Given the description of an element on the screen output the (x, y) to click on. 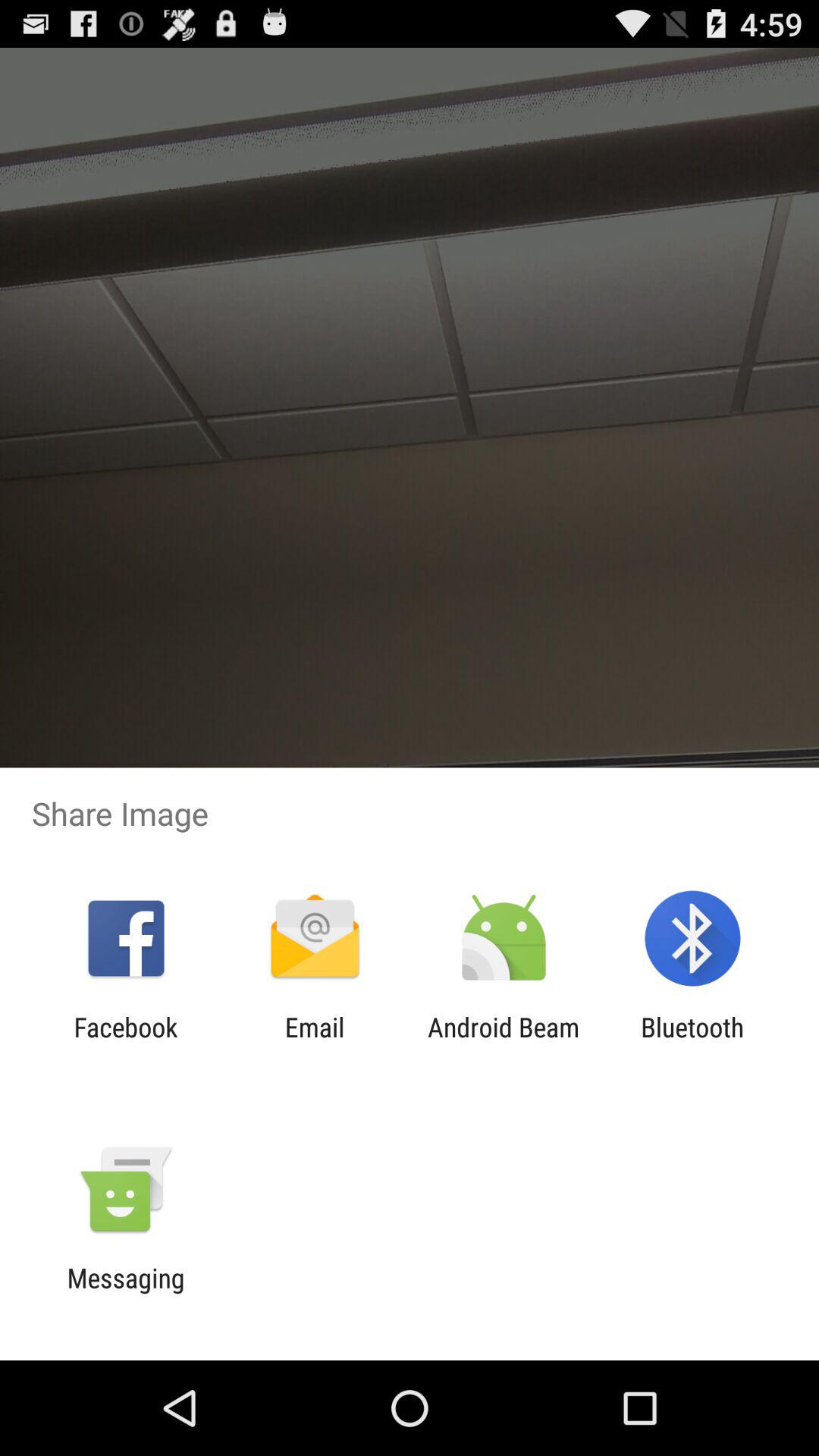
tap the item next to the bluetooth app (503, 1042)
